Given the description of an element on the screen output the (x, y) to click on. 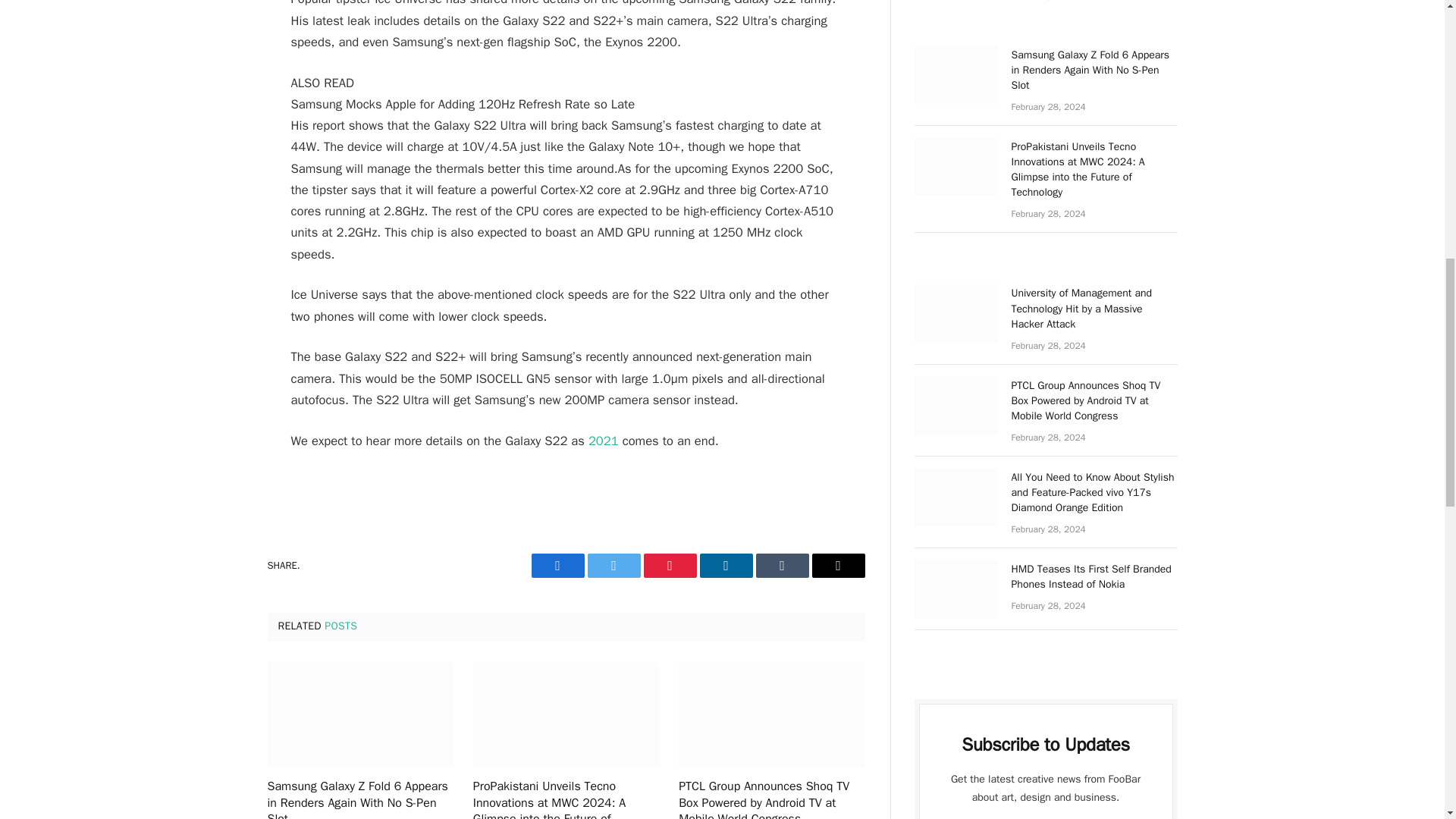
2021 (603, 440)
Twitter (613, 565)
Facebook (557, 565)
